Given the description of an element on the screen output the (x, y) to click on. 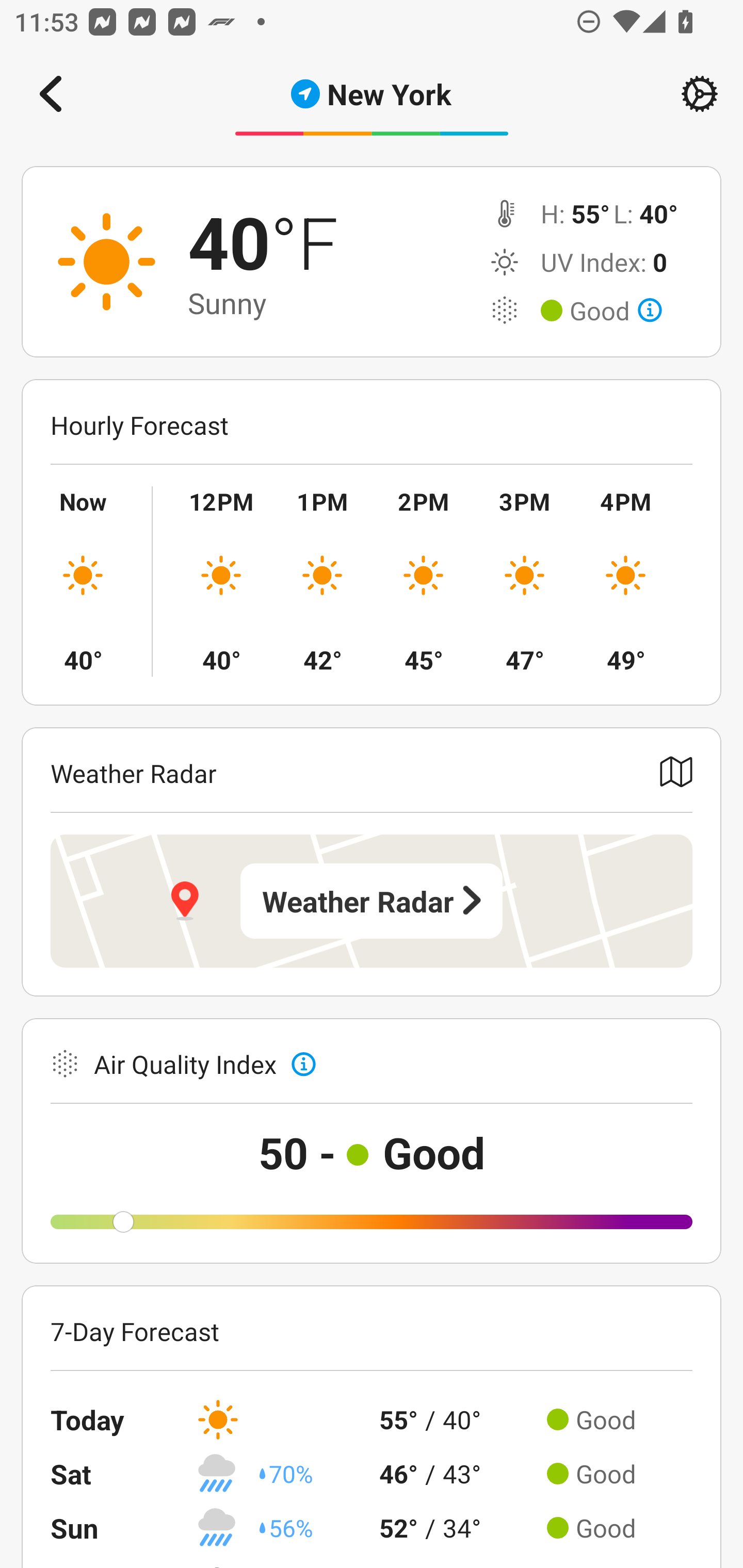
Navigate up (50, 93)
Setting (699, 93)
Good (615, 310)
Weather Radar (371, 900)
